Given the description of an element on the screen output the (x, y) to click on. 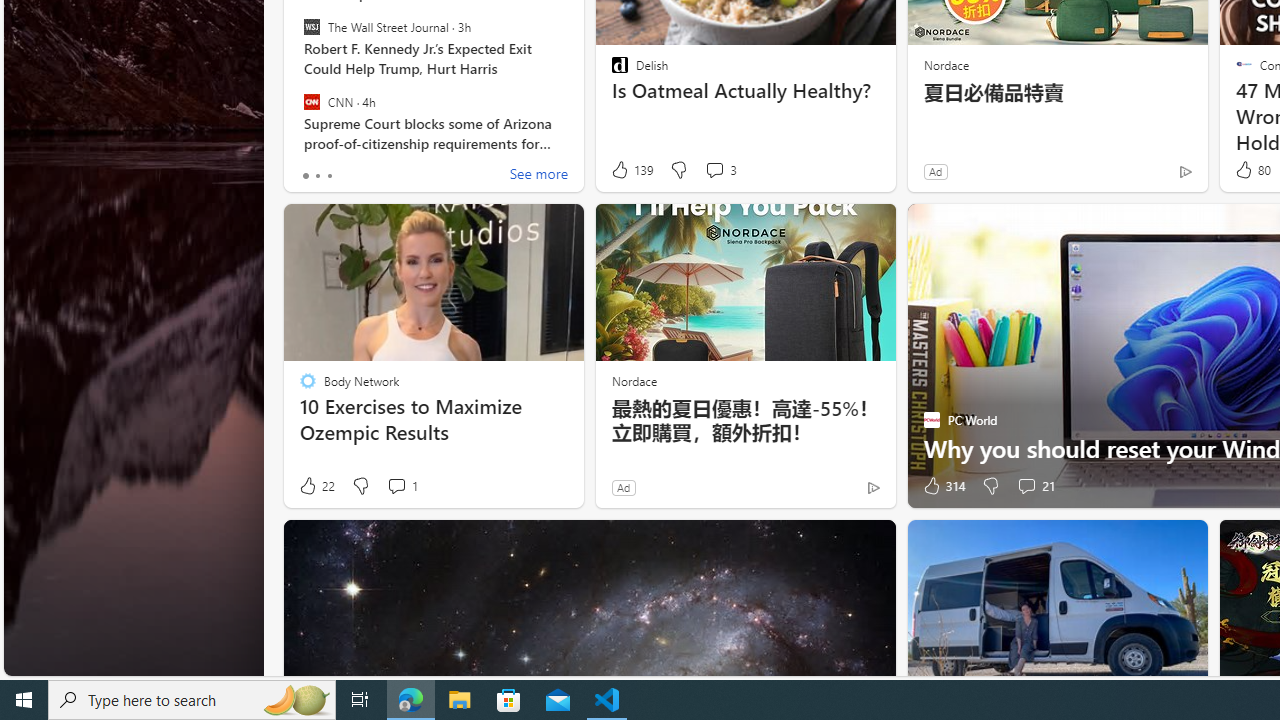
139 Like (630, 170)
22 Like (316, 485)
Ad Choice (873, 487)
tab-1 (317, 175)
View comments 21 Comment (1026, 485)
CNN (311, 101)
tab-0 (305, 175)
View comments 1 Comment (396, 485)
See more (538, 175)
View comments 3 Comment (714, 169)
Nordace (633, 380)
314 Like (942, 485)
